Given the description of an element on the screen output the (x, y) to click on. 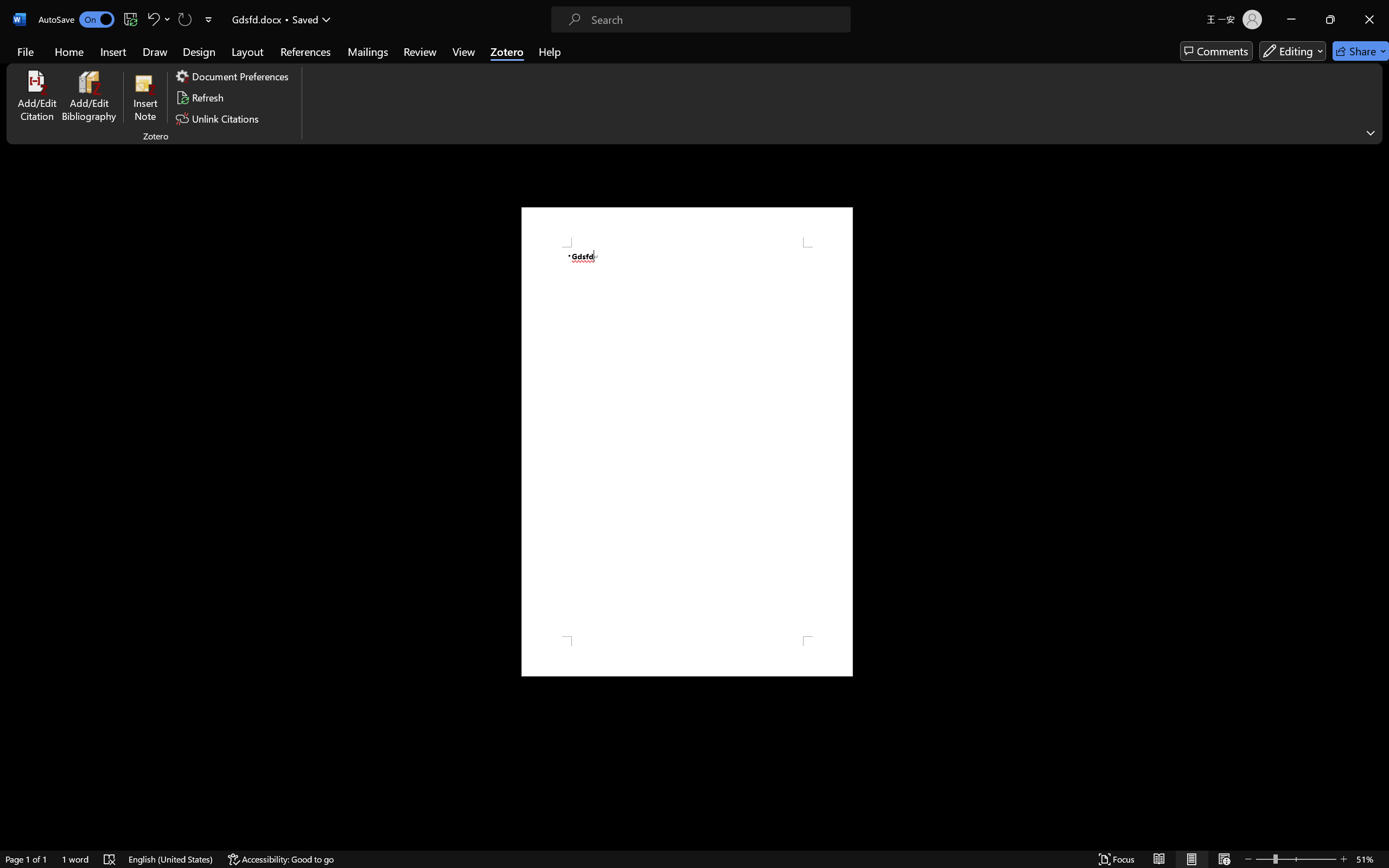
Page 1 content (686, 441)
